Given the description of an element on the screen output the (x, y) to click on. 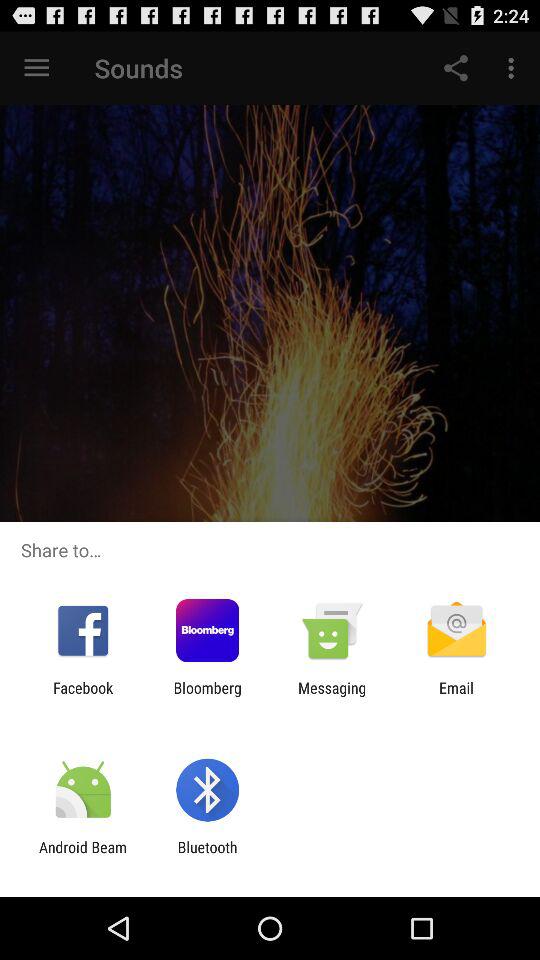
jump until the android beam item (83, 856)
